Given the description of an element on the screen output the (x, y) to click on. 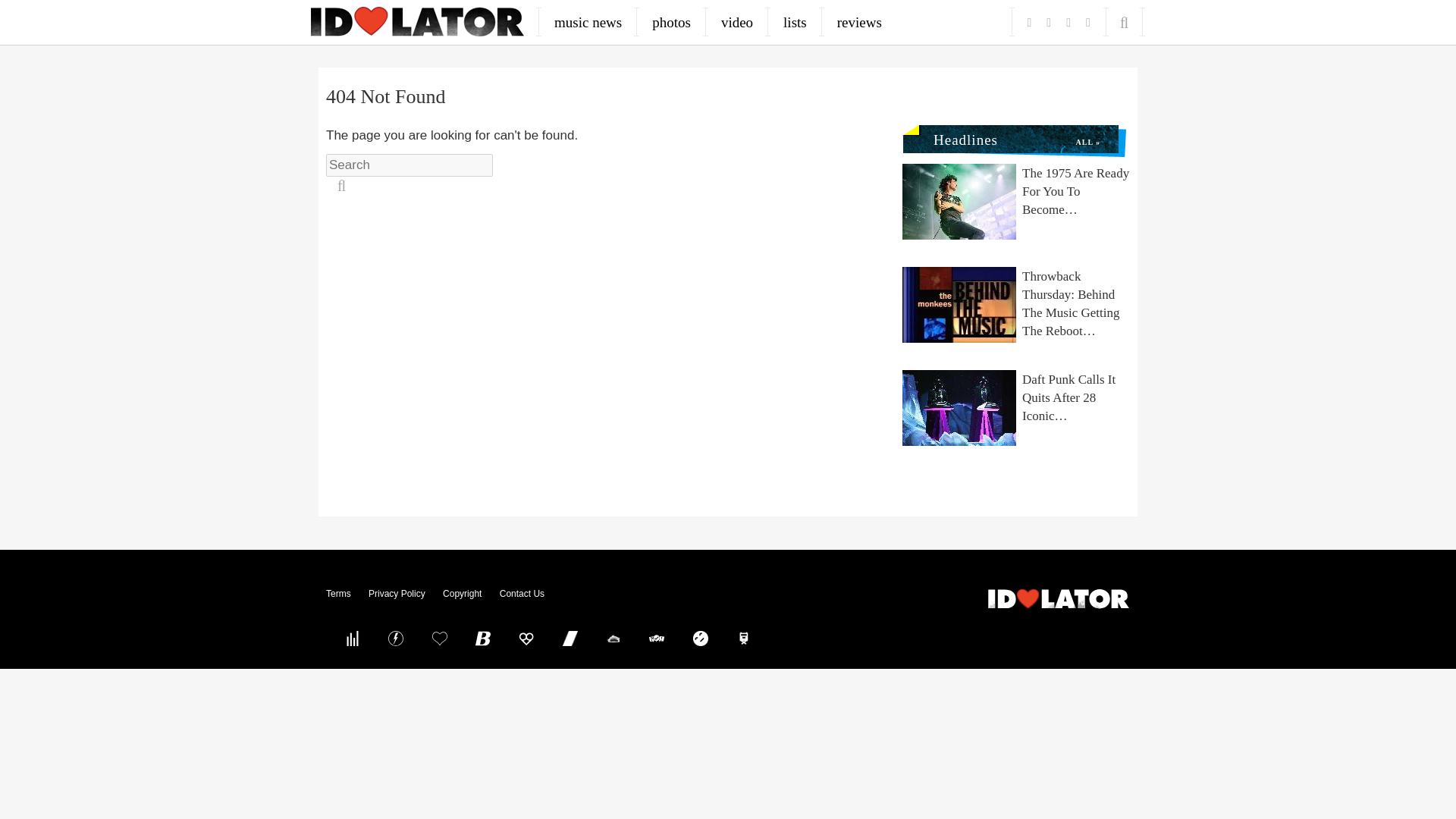
Terms (338, 593)
Copyright (461, 593)
Quizscape (656, 638)
Trend Chaser (570, 638)
Buzznet (395, 638)
Daily Funny (699, 638)
Hooch (526, 638)
Pure Volume (351, 638)
photos (671, 22)
Explored Hollywood (743, 638)
BleacherBreaker (483, 638)
reviews (859, 22)
Post Fun (439, 638)
video (737, 22)
music news (587, 22)
